Given the description of an element on the screen output the (x, y) to click on. 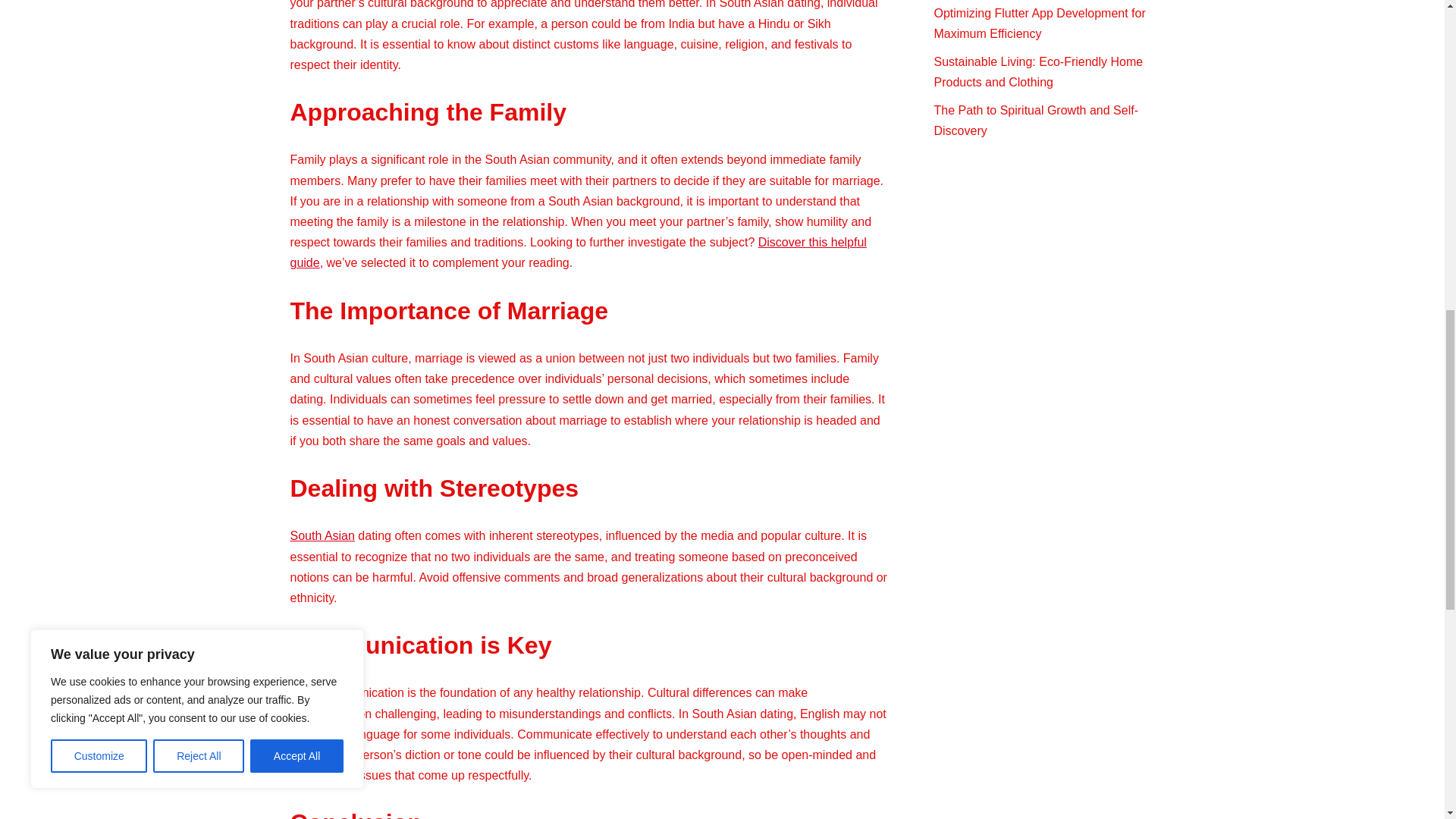
Discover this helpful guide (577, 252)
South Asian (321, 535)
